Given the description of an element on the screen output the (x, y) to click on. 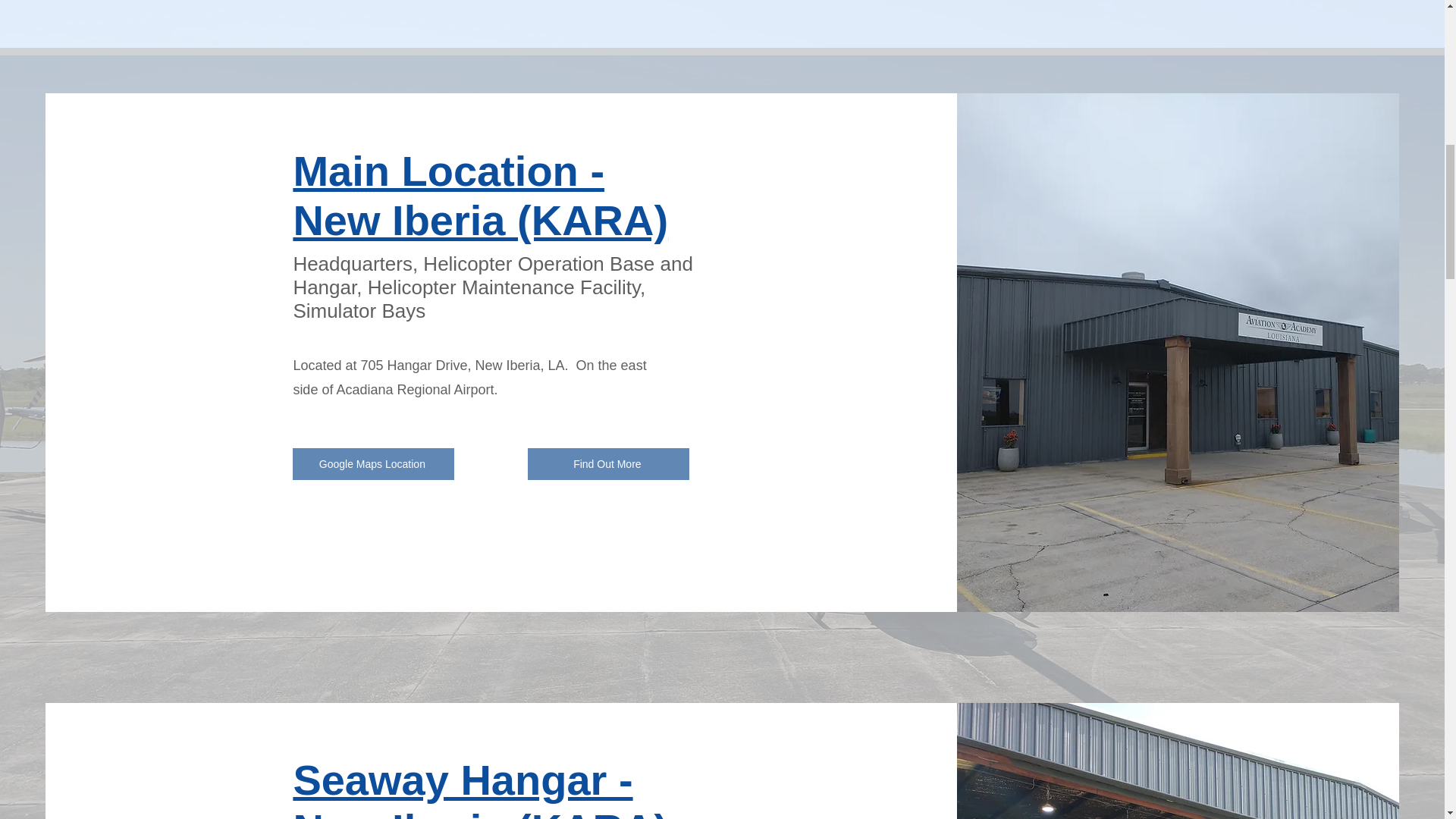
Find Out More (607, 463)
Google Maps Location (373, 463)
